Given the description of an element on the screen output the (x, y) to click on. 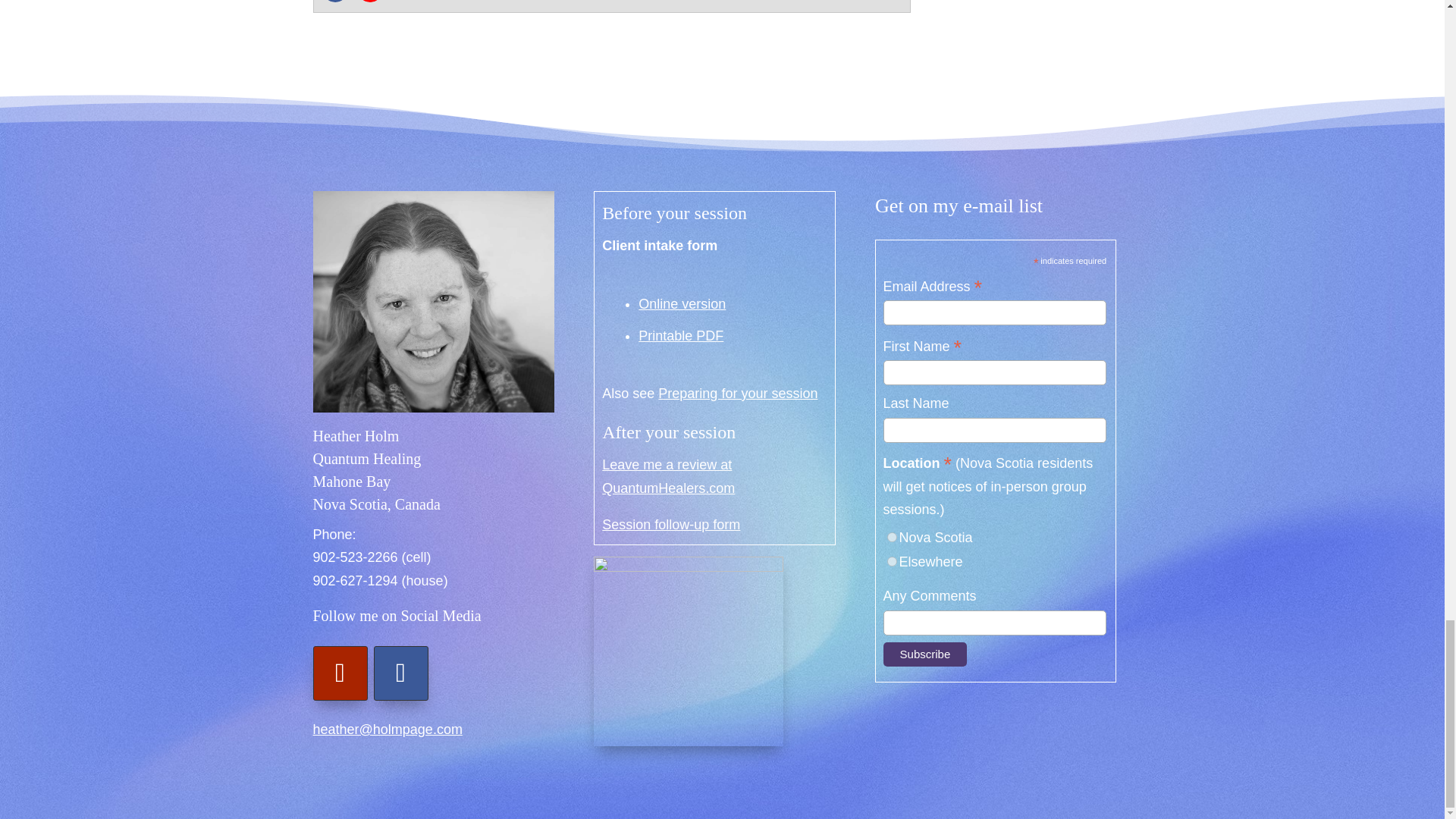
Elsewhere (891, 561)
Subscribe (925, 654)
Nova Scotia (891, 537)
